Given the description of an element on the screen output the (x, y) to click on. 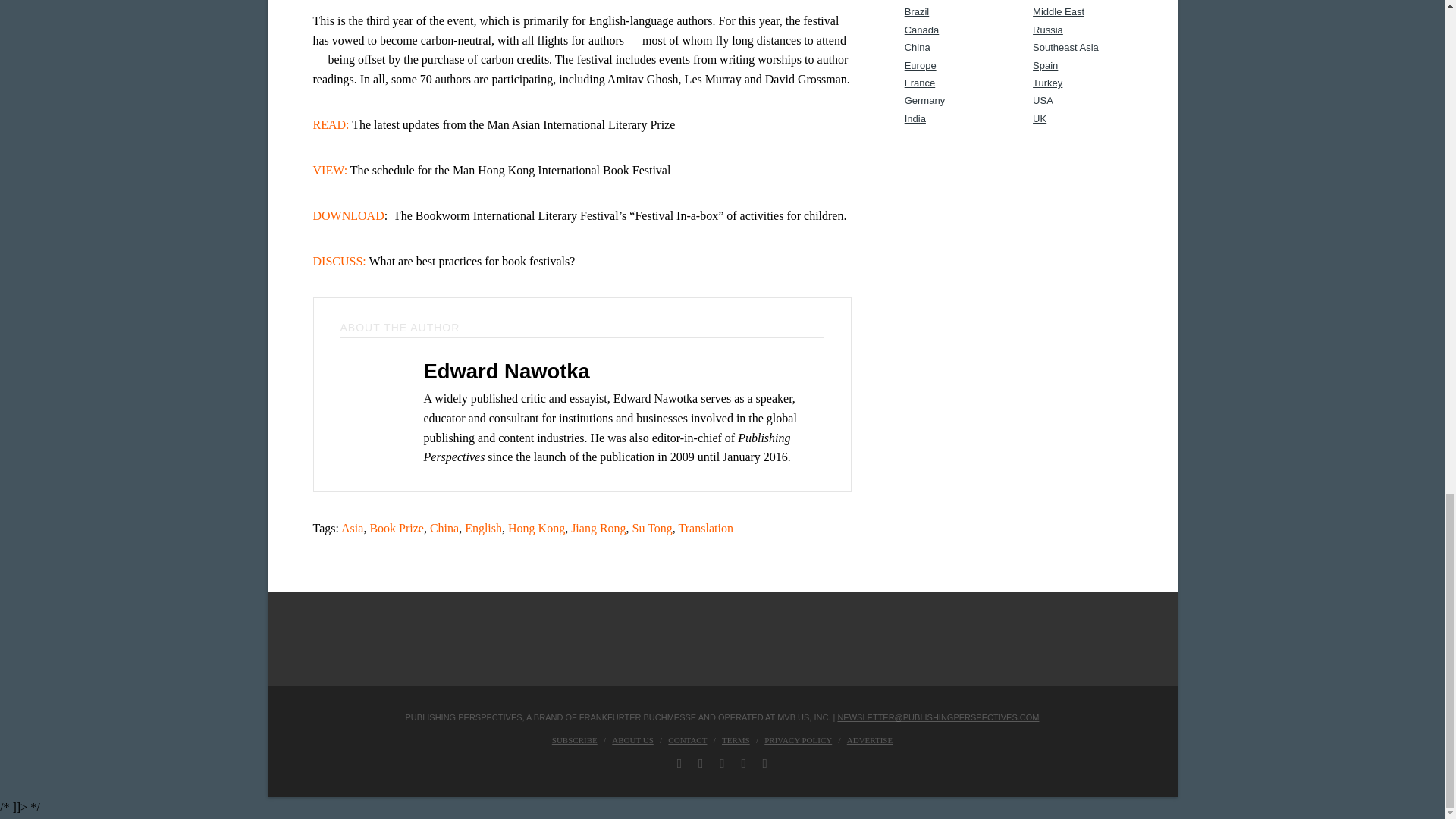
READ: (332, 124)
YouTube (743, 763)
DOWNLOAD (348, 215)
VIEW: (330, 169)
Asia (351, 527)
Twitter (700, 763)
Facebook (679, 763)
Subscribe to Publishing Perspectives (573, 739)
LinkedIn (722, 763)
Terms and Conditions (735, 739)
DISCUSS: (339, 260)
